Given the description of an element on the screen output the (x, y) to click on. 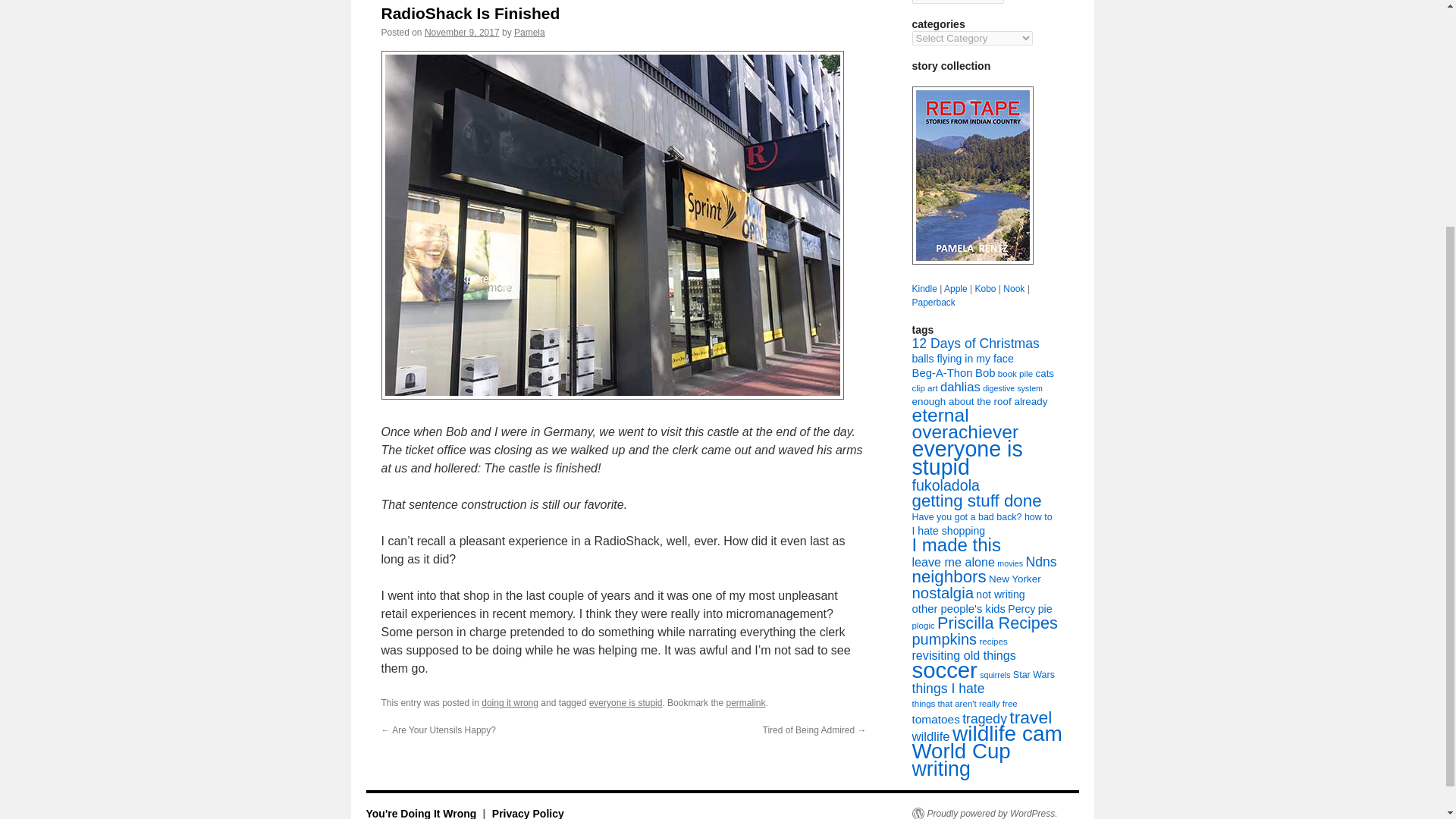
everyone is stupid (625, 702)
Nook (1014, 288)
getting stuff done (976, 500)
permalink (745, 702)
Pamela (528, 32)
12 Days of Christmas (975, 343)
enough about the roof already (978, 401)
12:44 pm (462, 32)
Kindle (923, 288)
November 9, 2017 (462, 32)
balls flying in my face (962, 358)
Apple (955, 288)
dahlias (959, 386)
Beg-A-Thon (941, 372)
